Given the description of an element on the screen output the (x, y) to click on. 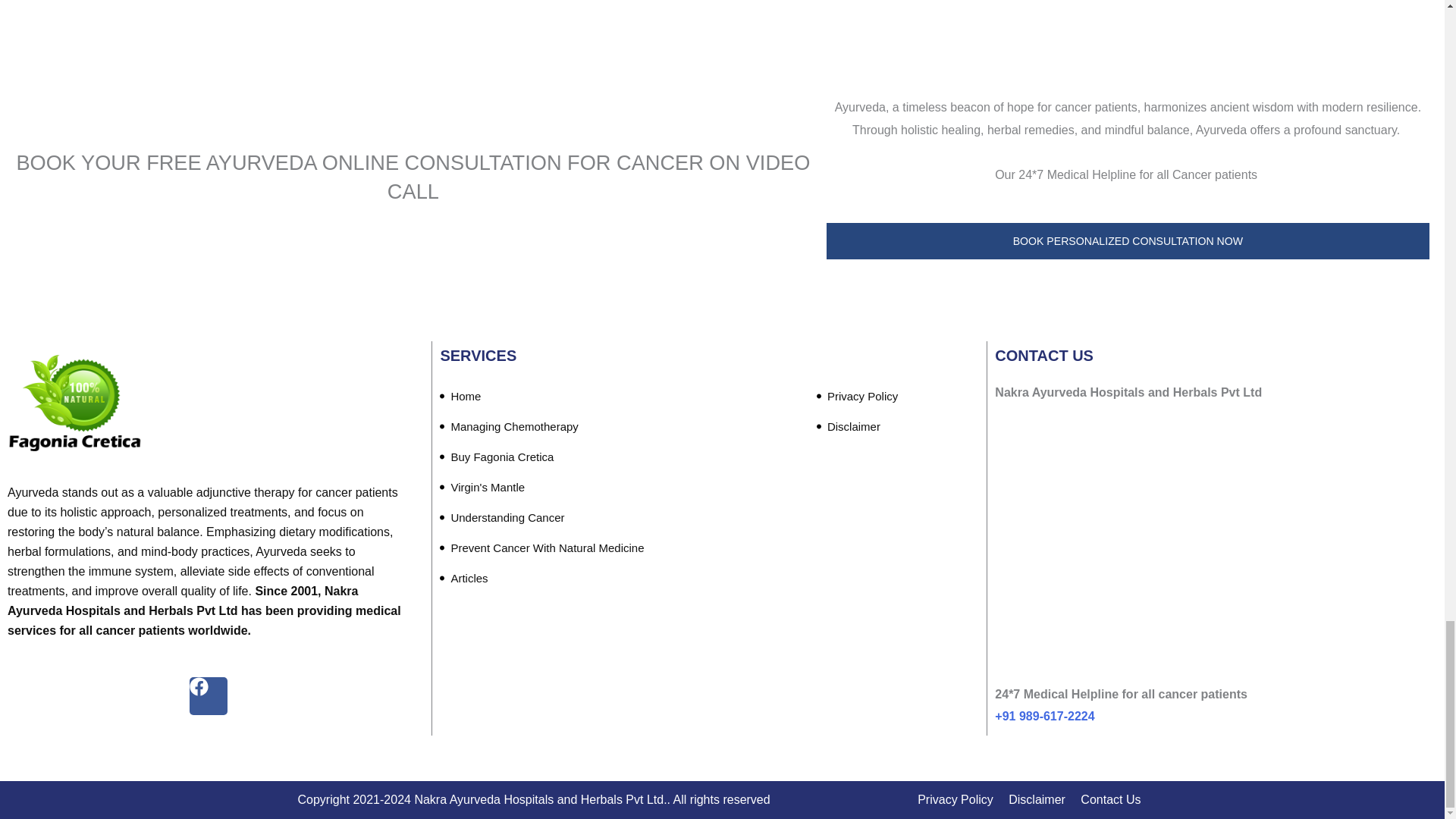
Nakra Ayurveda Hospitals and Herbals Pvt Ltd (1212, 554)
Virgin's Mantle (481, 487)
Managing Chemotherapy (508, 426)
Understanding Cancer (501, 517)
Articles (463, 578)
Facebook (208, 695)
Prevent Cancer With Natural Medicine (541, 548)
Buy Fagonia Cretica (496, 457)
Privacy Policy (857, 396)
BOOK PERSONALIZED CONSULTATION NOW (1128, 240)
Home (459, 396)
